Given the description of an element on the screen output the (x, y) to click on. 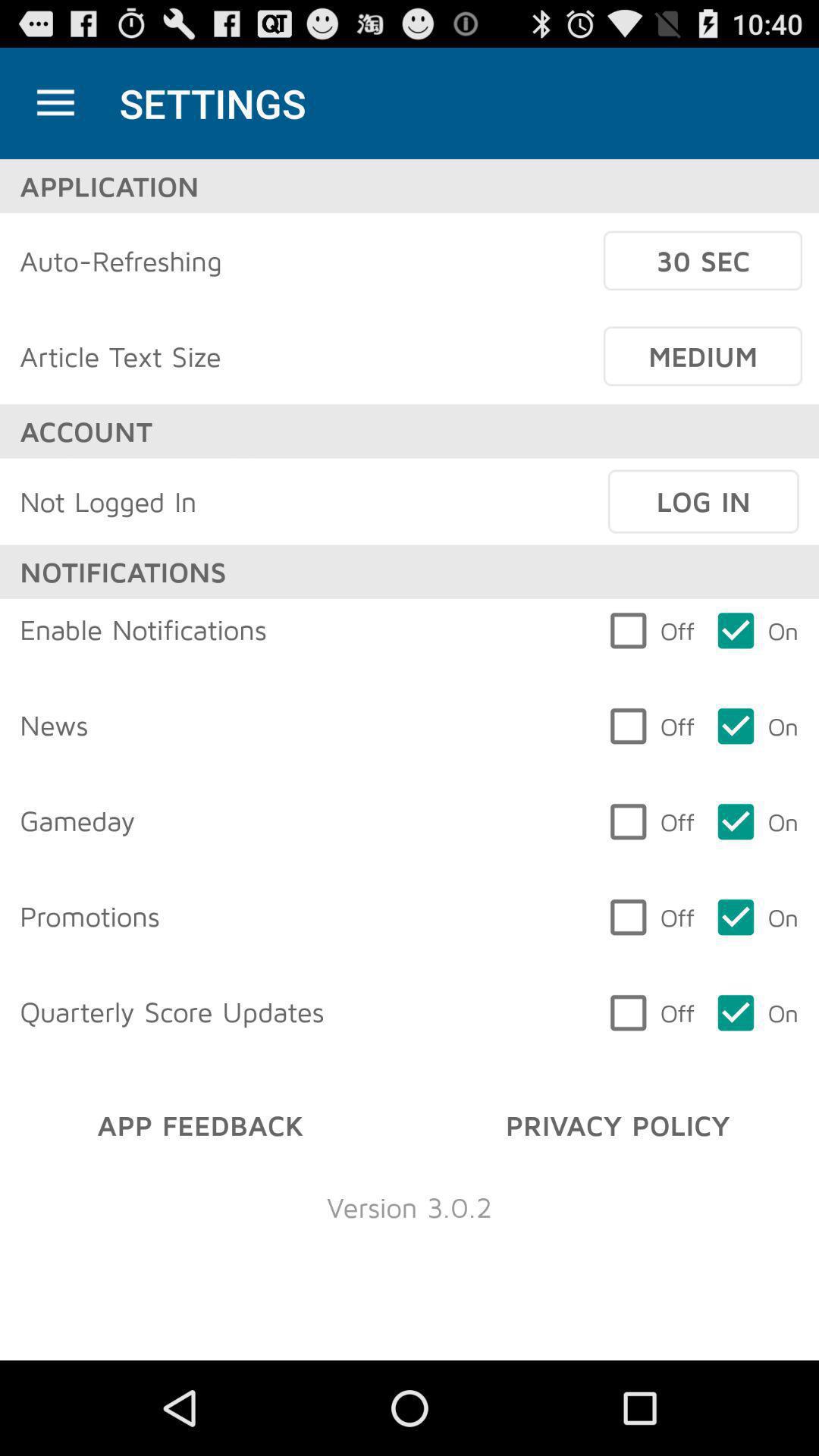
select the icon above the off item (703, 501)
